Given the description of an element on the screen output the (x, y) to click on. 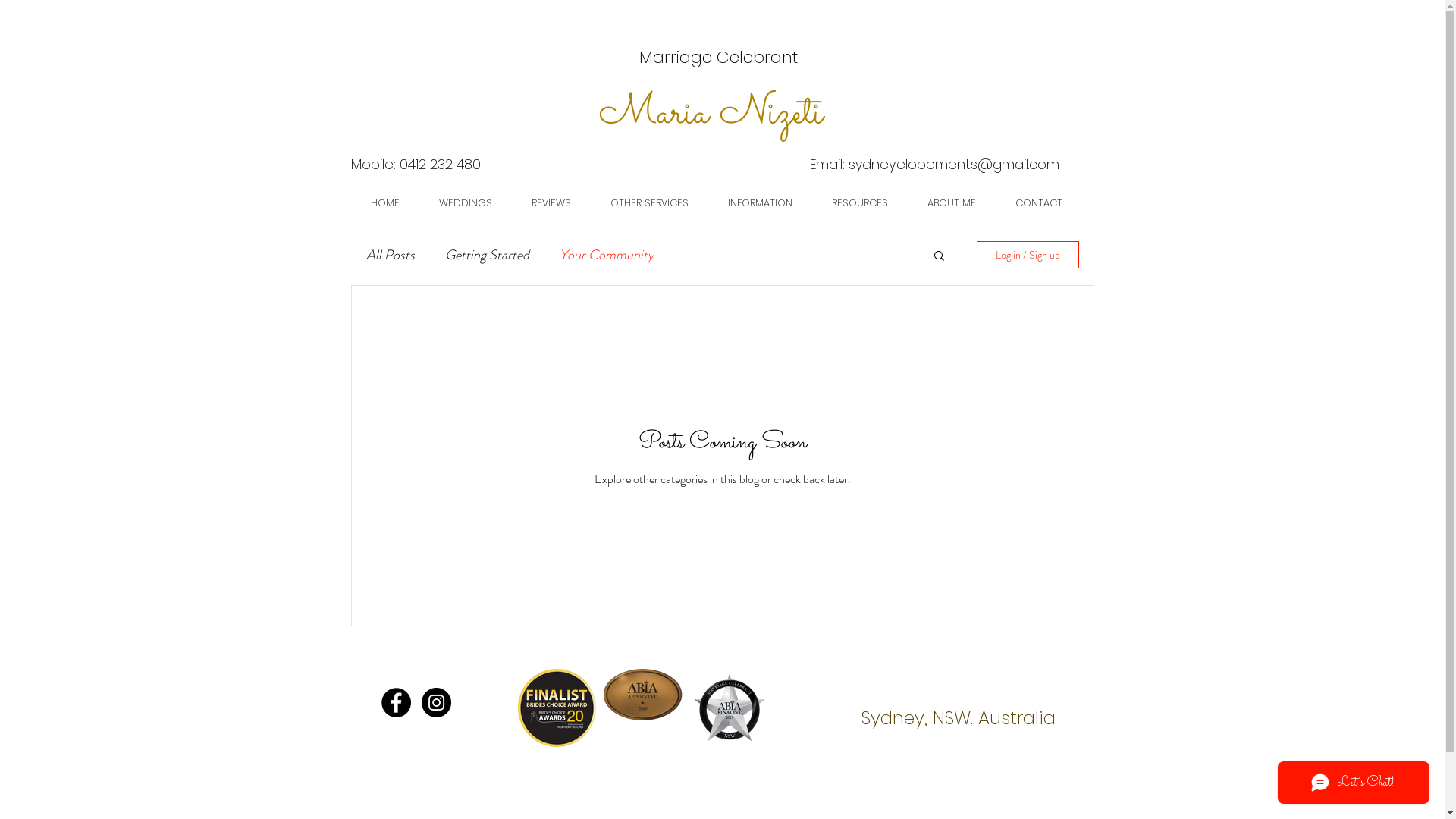
Getting Started Element type: text (486, 254)
Log in / Sign up Element type: text (1027, 254)
CONTACT Element type: text (1037, 202)
sydney.elopements@gmail.com Element type: text (952, 163)
WEDDINGS Element type: text (464, 202)
RESOURCES Element type: text (858, 202)
Your Community Element type: text (606, 254)
All Posts Element type: text (389, 254)
REVIEWS Element type: text (550, 202)
INFORMATION Element type: text (760, 202)
HOME Element type: text (384, 202)
ABOUT ME Element type: text (950, 202)
OTHER SERVICES Element type: text (648, 202)
